Given the description of an element on the screen output the (x, y) to click on. 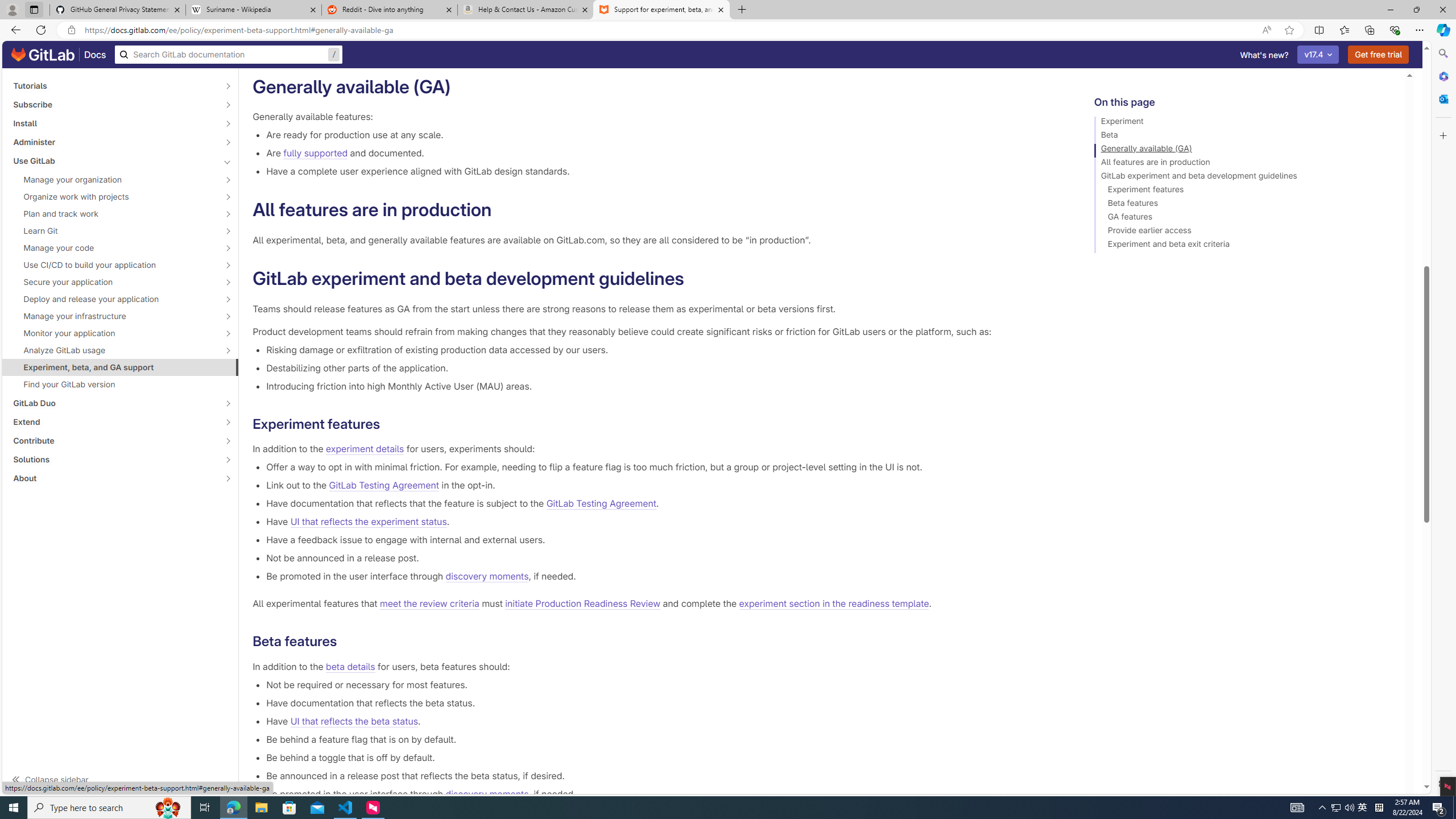
meet the review criteria (429, 603)
Experiment (1244, 123)
discovery moments (486, 793)
All features are in production (1244, 164)
Have documentation that reflects the beta status. (662, 702)
Find your GitLab version (120, 384)
Use GitLab (113, 160)
Help & Contact Us - Amazon Customer Service - Sleeping (525, 9)
Analyze GitLab usage (113, 349)
Have UI that reflects the beta status. (662, 721)
Permalink (346, 641)
Plan and track work (113, 213)
Administer (113, 141)
